Given the description of an element on the screen output the (x, y) to click on. 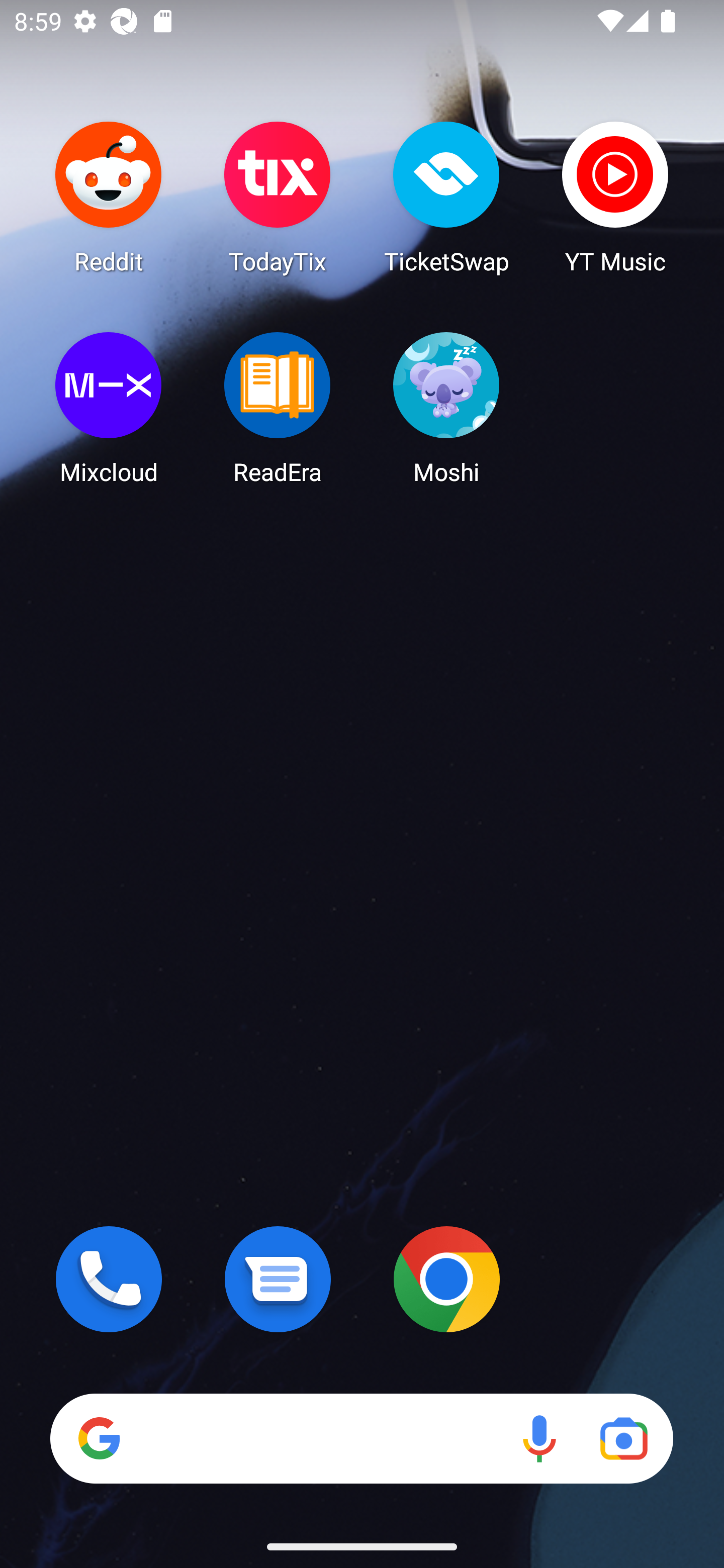
Reddit (108, 196)
TodayTix (277, 196)
TicketSwap (445, 196)
YT Music (615, 196)
Mixcloud (108, 407)
ReadEra (277, 407)
Moshi (445, 407)
Phone (108, 1279)
Messages (277, 1279)
Chrome (446, 1279)
Voice search (539, 1438)
Google Lens (623, 1438)
